Given the description of an element on the screen output the (x, y) to click on. 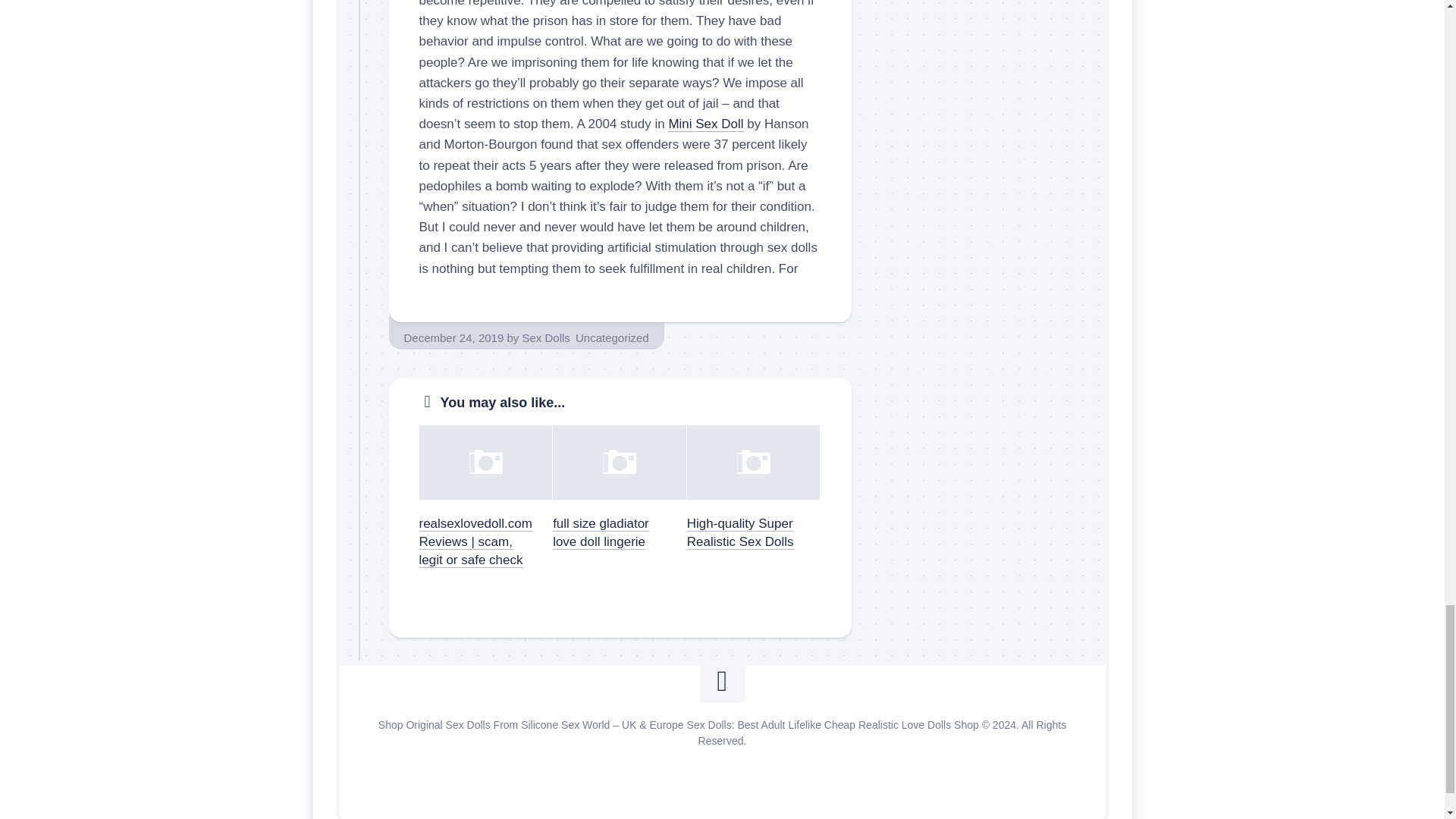
full size gladiator love doll lingerie (601, 532)
Reborns (928, 756)
Sex Dolls (545, 337)
Reborn baby doll (996, 756)
Bestlovesexdoll.com (444, 756)
cherrypiesexdoll.com (657, 756)
Realsexlovedoll.com (549, 756)
High-quality Super Realistic Sex Dolls (740, 532)
Milfsexdoll.com (752, 756)
Reborn dolls (893, 764)
